Given the description of an element on the screen output the (x, y) to click on. 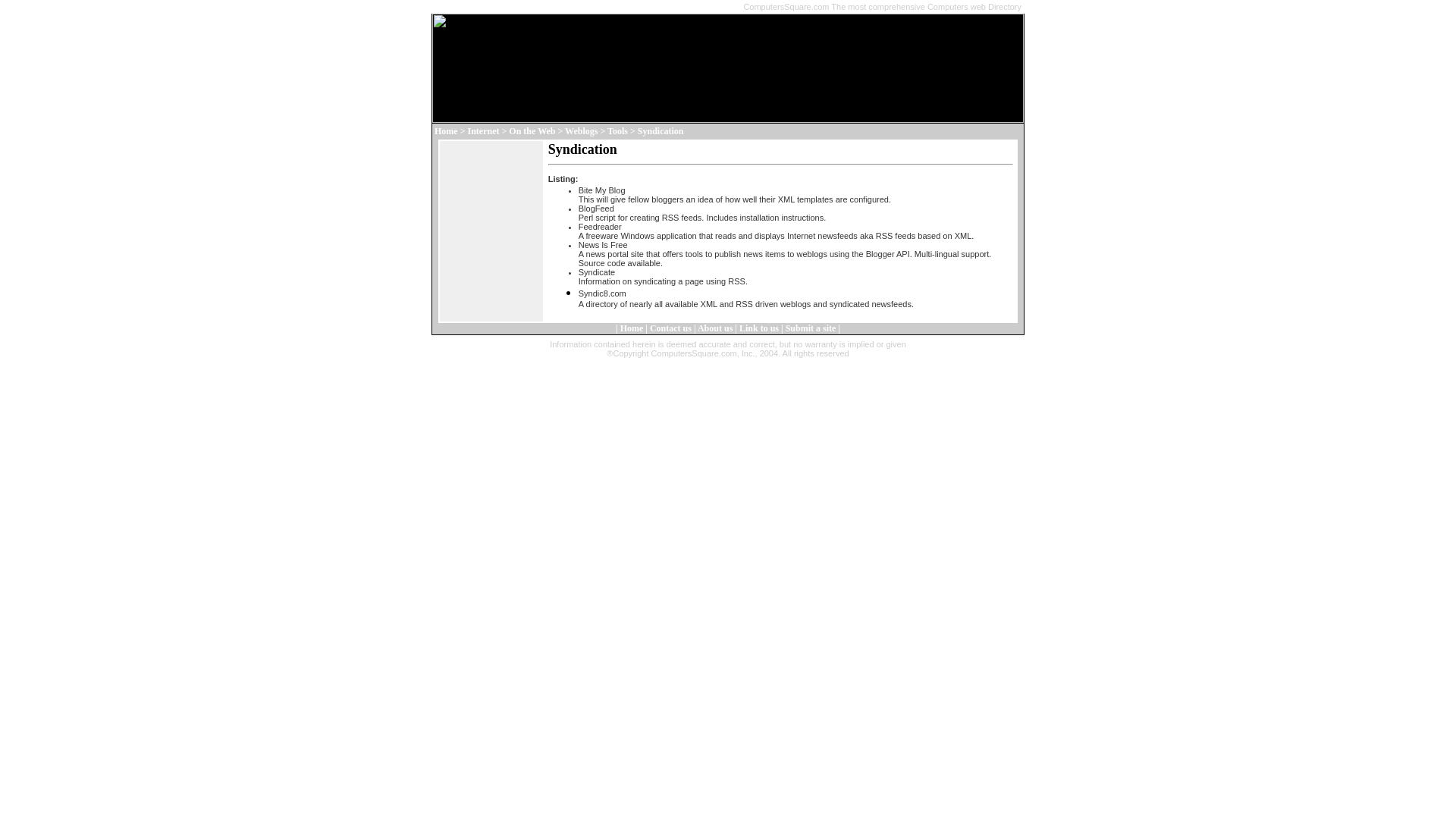
Weblogs (580, 131)
Home (631, 327)
Contact us (670, 327)
Tools (617, 131)
On the Web (532, 131)
Link to us (758, 327)
Submit a site (810, 327)
Internet (483, 131)
About us (714, 327)
Home (445, 131)
